Given the description of an element on the screen output the (x, y) to click on. 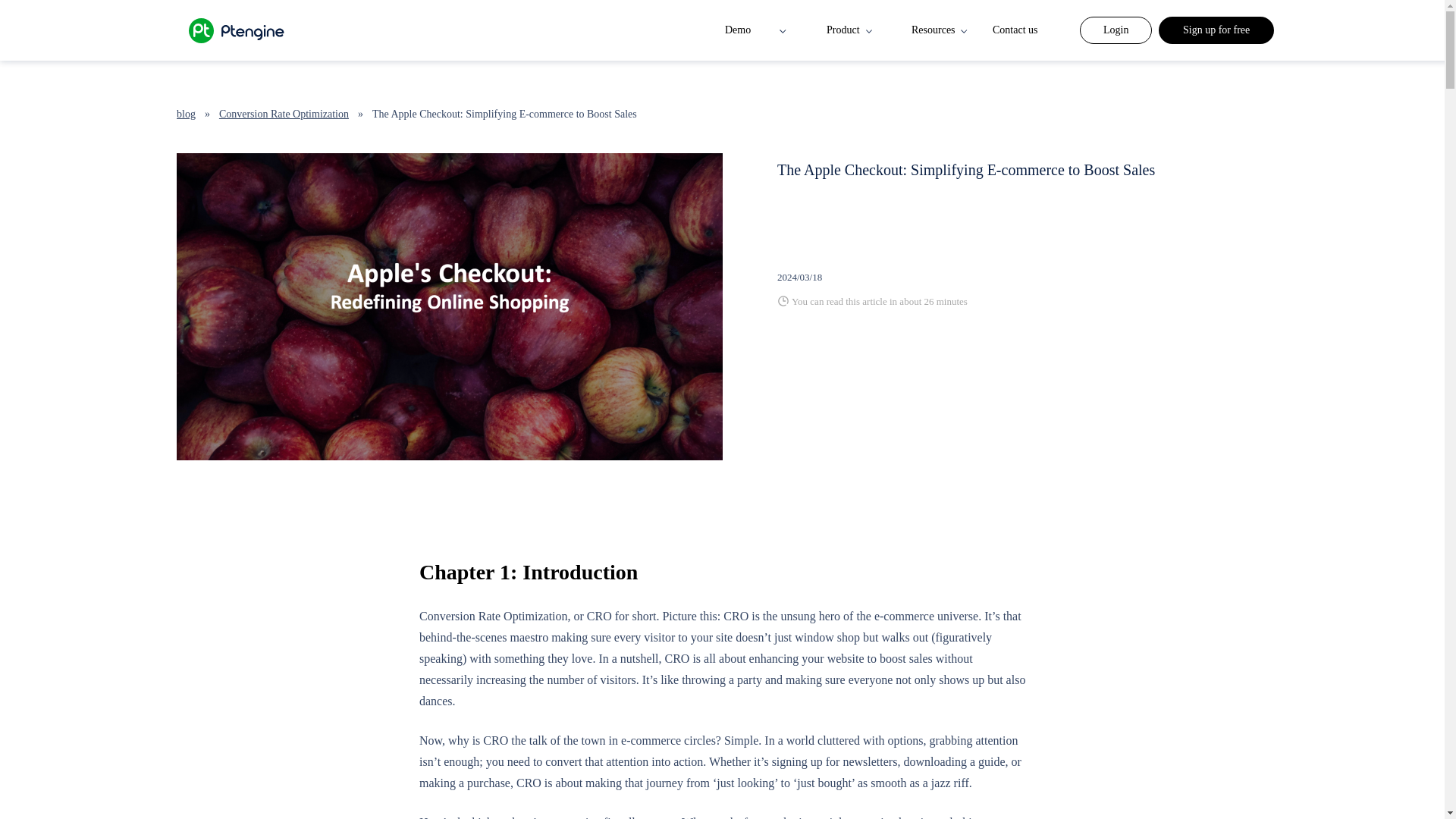
blog (185, 113)
Contact us (1015, 30)
Sign up for free (1216, 30)
Conversion Rate Optimization (282, 113)
Login (1115, 30)
